Given the description of an element on the screen output the (x, y) to click on. 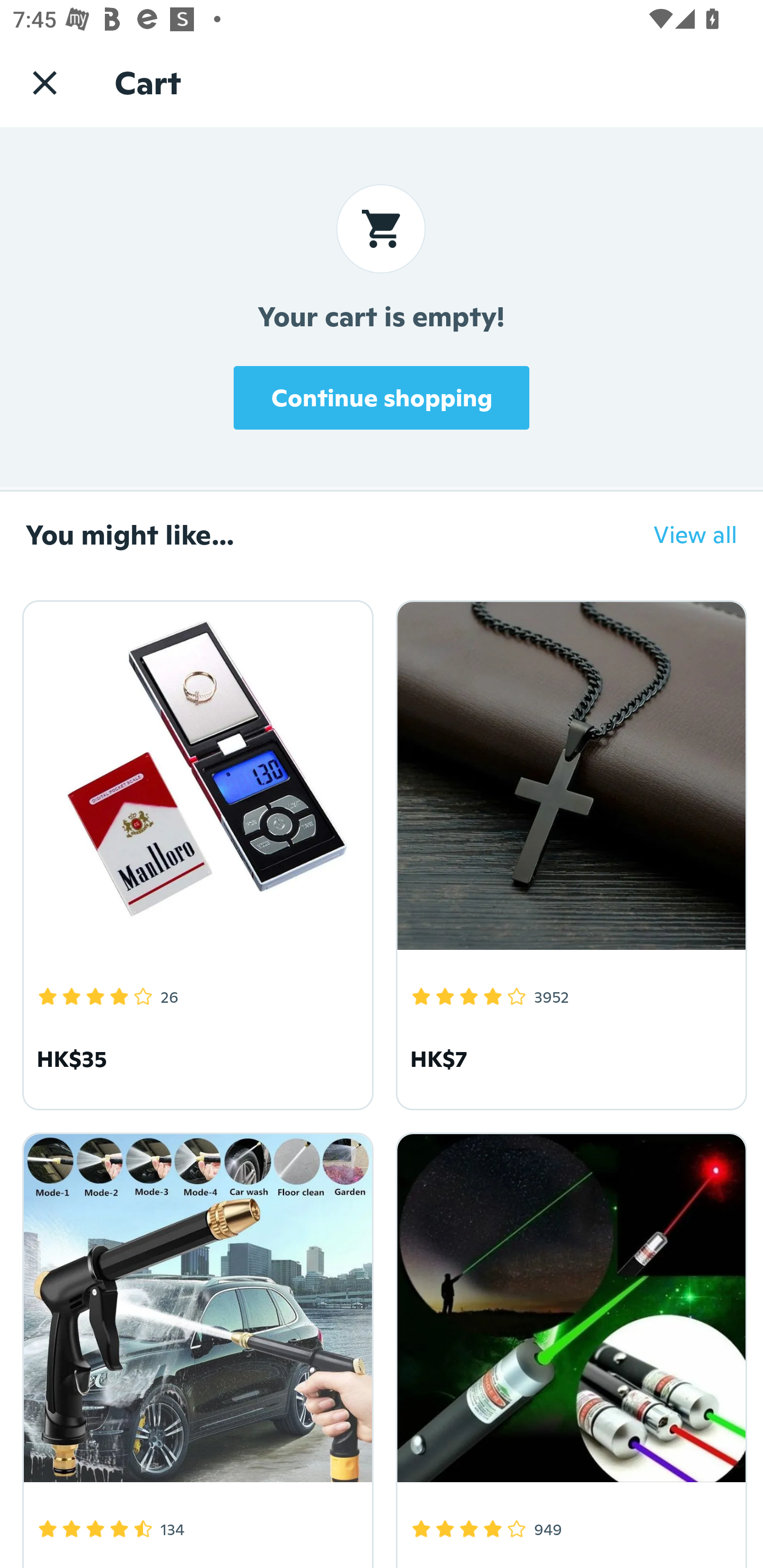
Navigate up (44, 82)
Continue shopping (381, 397)
View all (682, 534)
4.1 Star Rating 26 HK$35 (194, 852)
4.1 Star Rating 3952 HK$7 (567, 852)
4.3 Star Rating 134 (194, 1346)
3.9 Star Rating 949 (567, 1346)
